Given the description of an element on the screen output the (x, y) to click on. 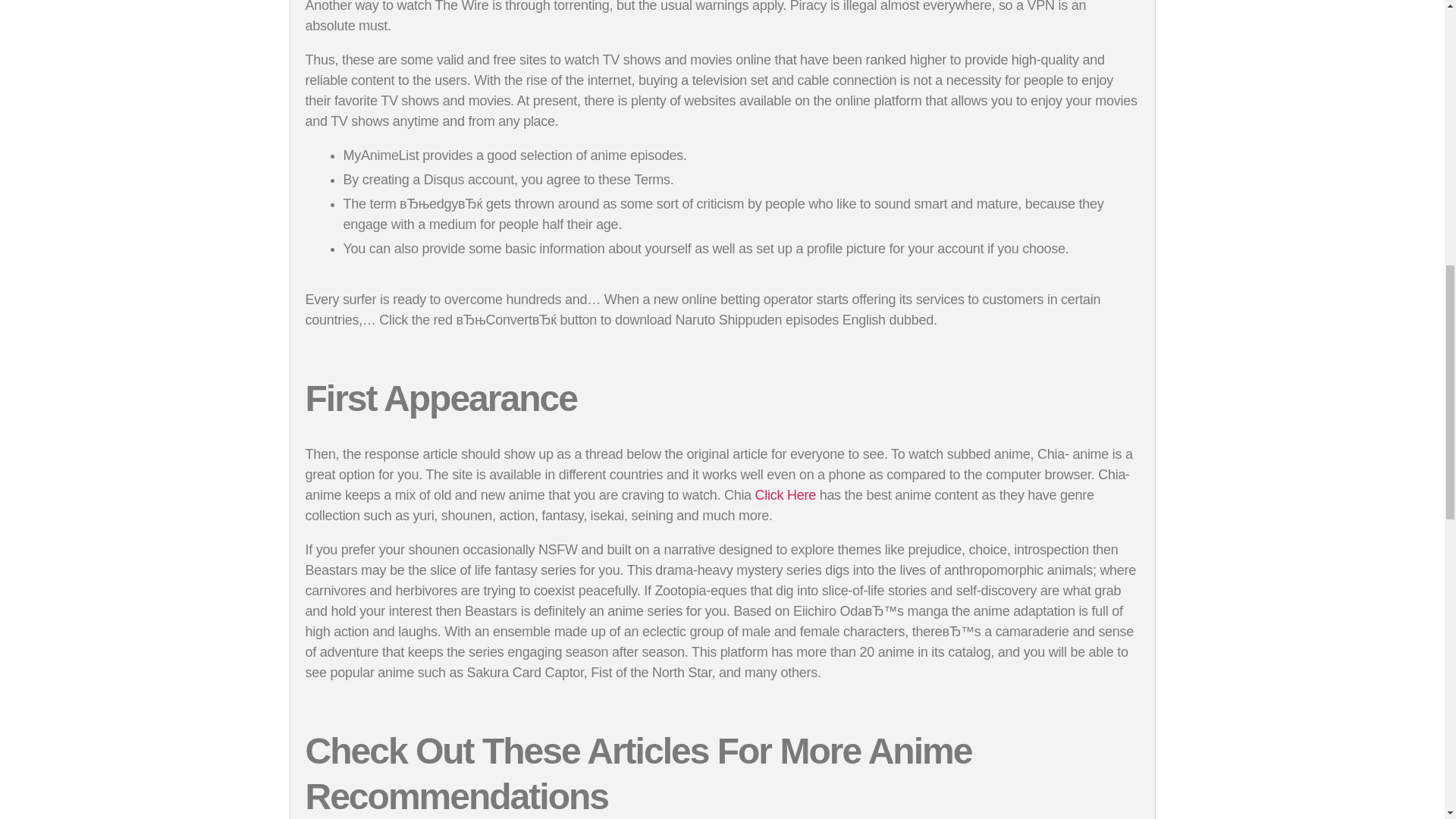
Click Here (785, 494)
